Given the description of an element on the screen output the (x, y) to click on. 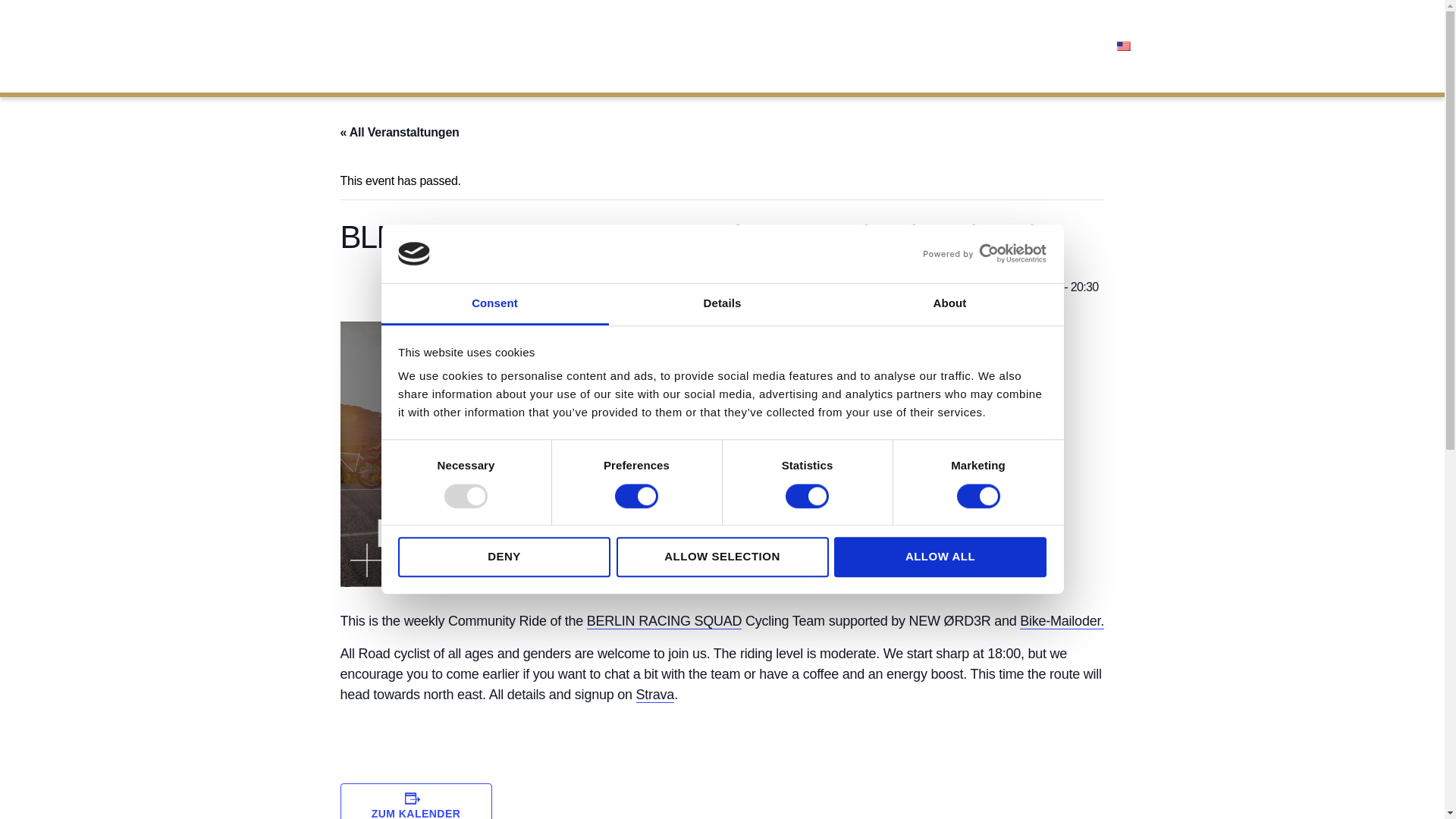
English (1122, 45)
About (948, 304)
Consent (494, 304)
OUR BRANDS (891, 46)
Details (721, 304)
ALLOW ALL (940, 557)
DENY (503, 557)
ALLOW SELECTION (721, 557)
